Given the description of an element on the screen output the (x, y) to click on. 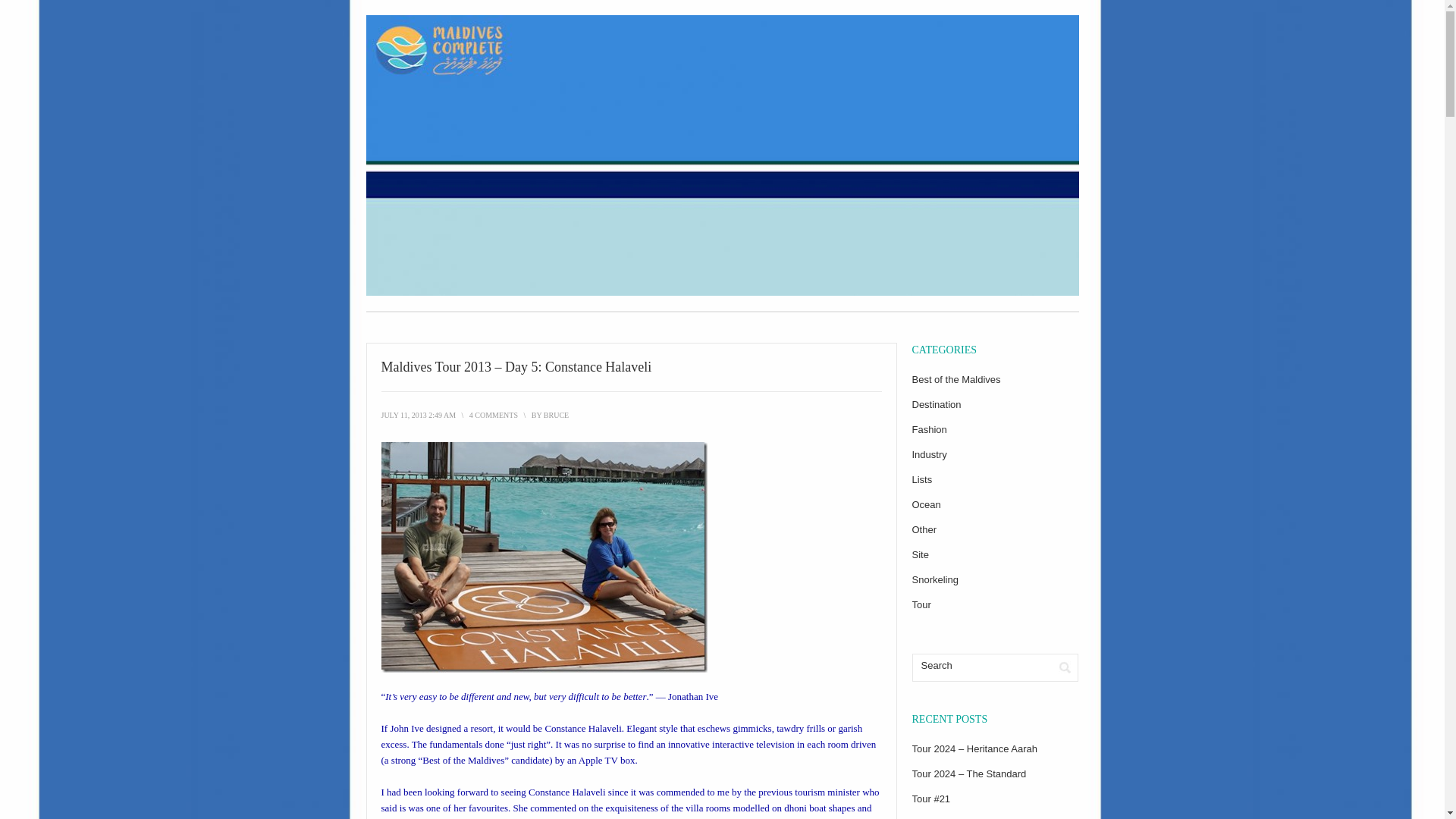
Site (919, 554)
Search (980, 665)
Ocean (925, 504)
Constance Halaveli tour (543, 557)
Tour (920, 604)
BRUCE (556, 415)
Search (1064, 667)
JULY 11, 2013 2:49 AM (417, 415)
Lists (921, 479)
